Given the description of an element on the screen output the (x, y) to click on. 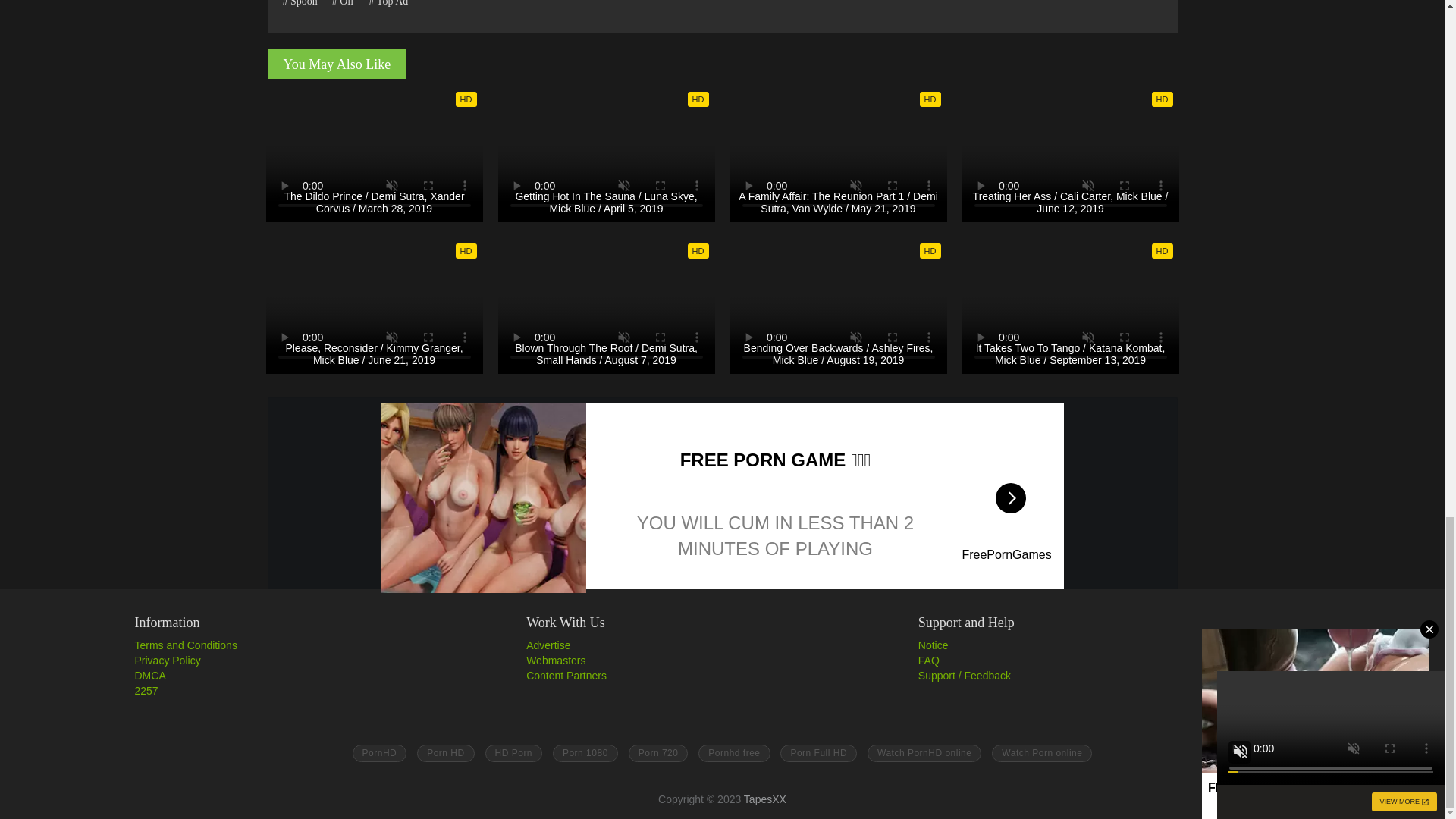
PornHD (379, 753)
HD Porn (734, 753)
Watch movies 2k (1041, 753)
HD Porn (585, 753)
HD Porn (513, 753)
HD Porn (658, 753)
Watch movies 2k (924, 753)
Porn HD (445, 753)
Porn Full HD (818, 753)
